Given the description of an element on the screen output the (x, y) to click on. 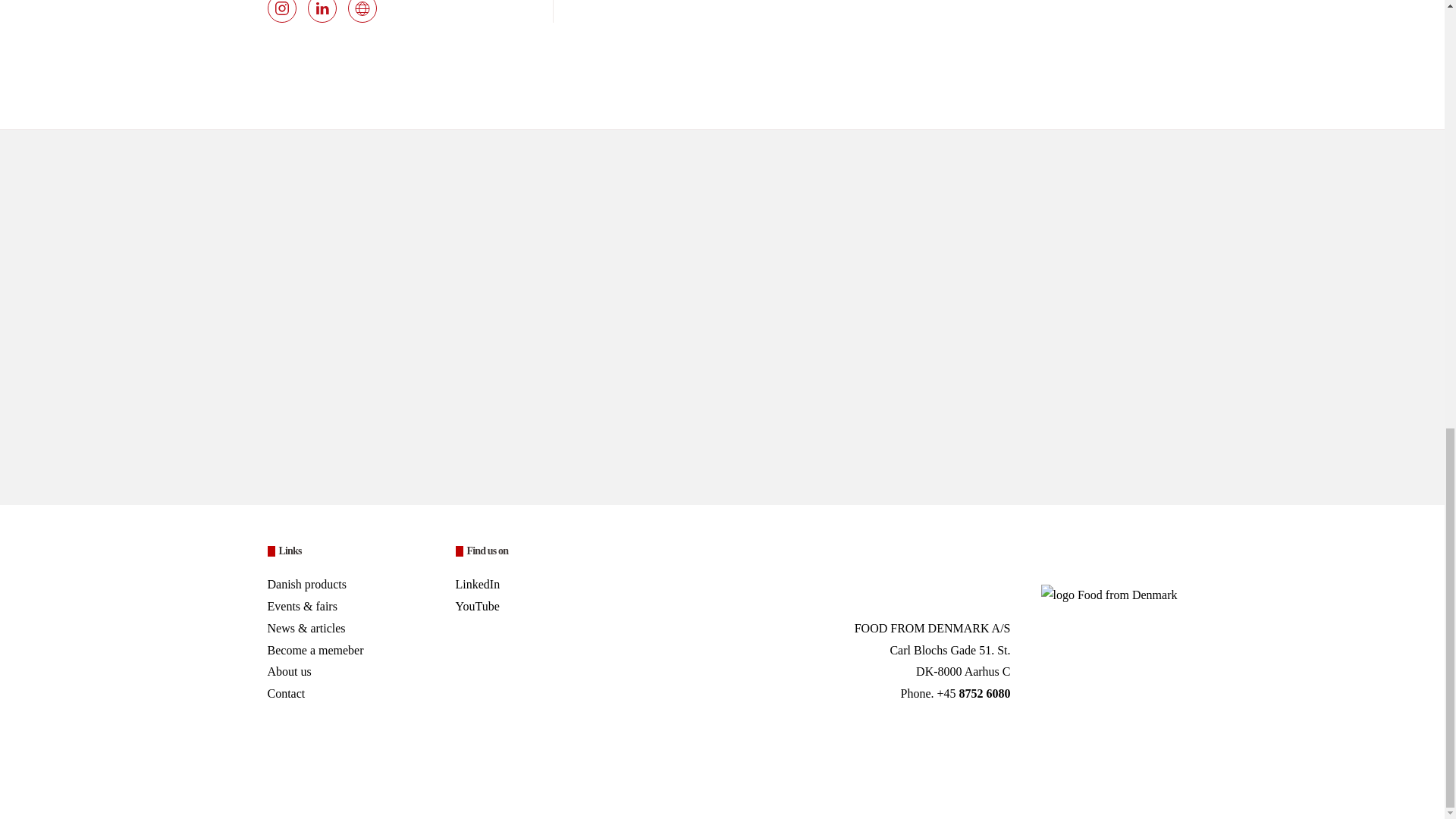
LinkedIn (476, 584)
Danish products (306, 584)
About us (288, 671)
YouTube (476, 605)
Contact (285, 693)
Become a memeber (345, 650)
